Given the description of an element on the screen output the (x, y) to click on. 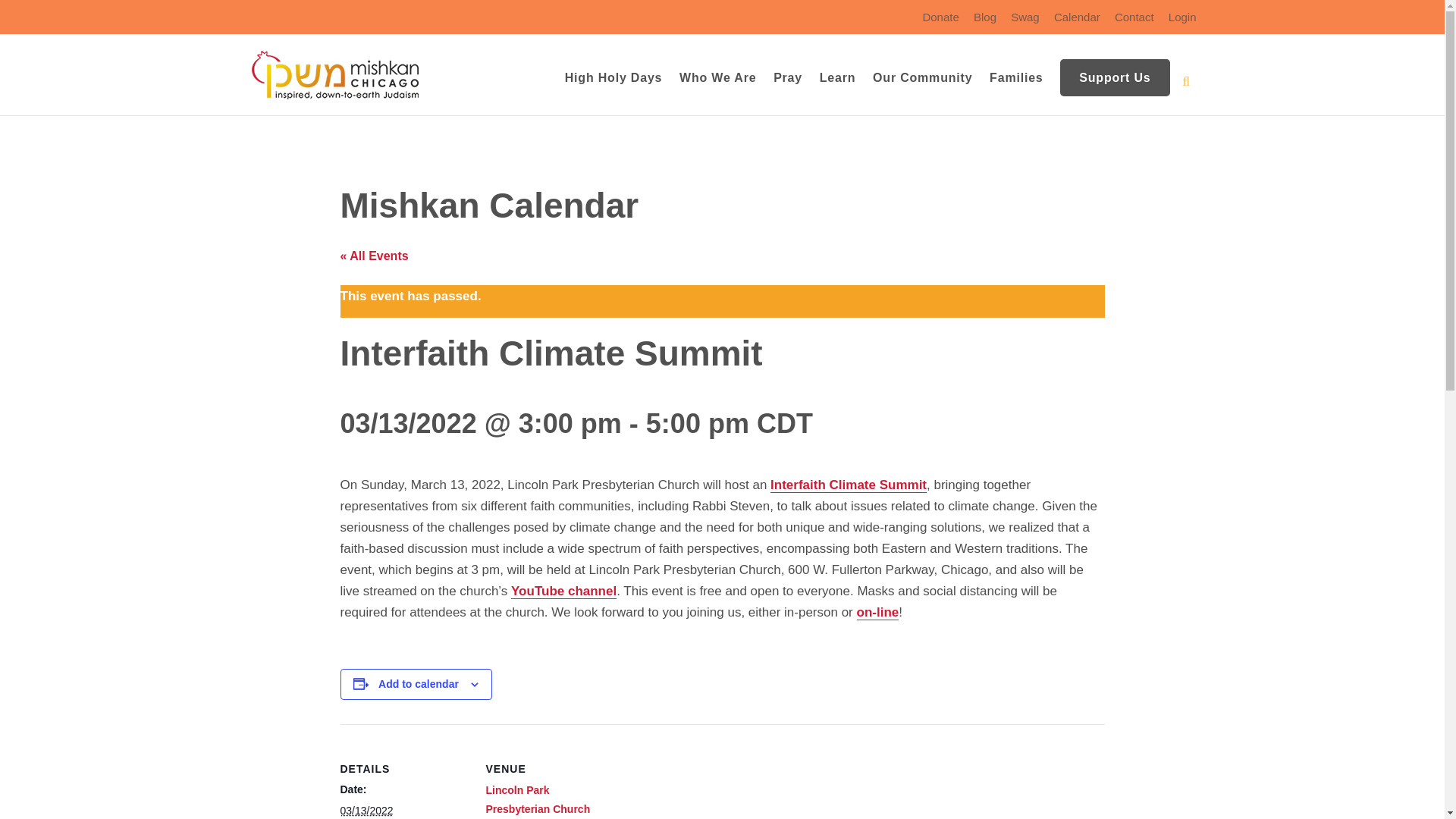
Learn (837, 89)
Calendar (1077, 23)
Login (1182, 23)
Our Community (922, 89)
Swag (1024, 23)
Donate (939, 23)
2022-03-13 (366, 810)
Blog (984, 23)
High Holy Days (613, 89)
